Given the description of an element on the screen output the (x, y) to click on. 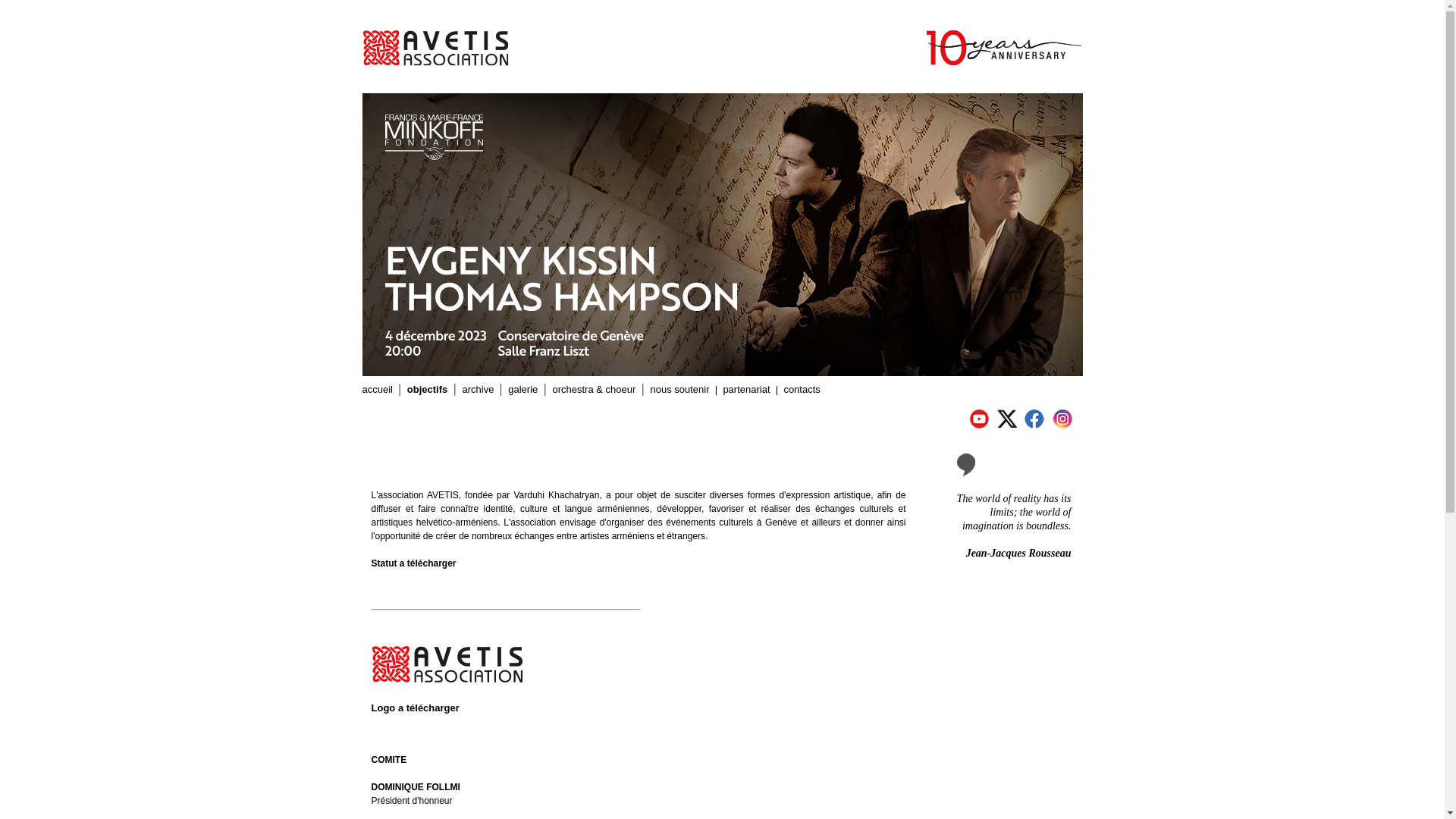
contacts Element type: text (801, 389)
accueil Element type: text (377, 389)
objectifs Element type: text (427, 389)
orchestra & choeur Element type: text (593, 389)
galerie Element type: text (522, 389)
archive Element type: text (477, 389)
nous soutenir Element type: text (679, 389)
partenariat Element type: text (745, 389)
